Given the description of an element on the screen output the (x, y) to click on. 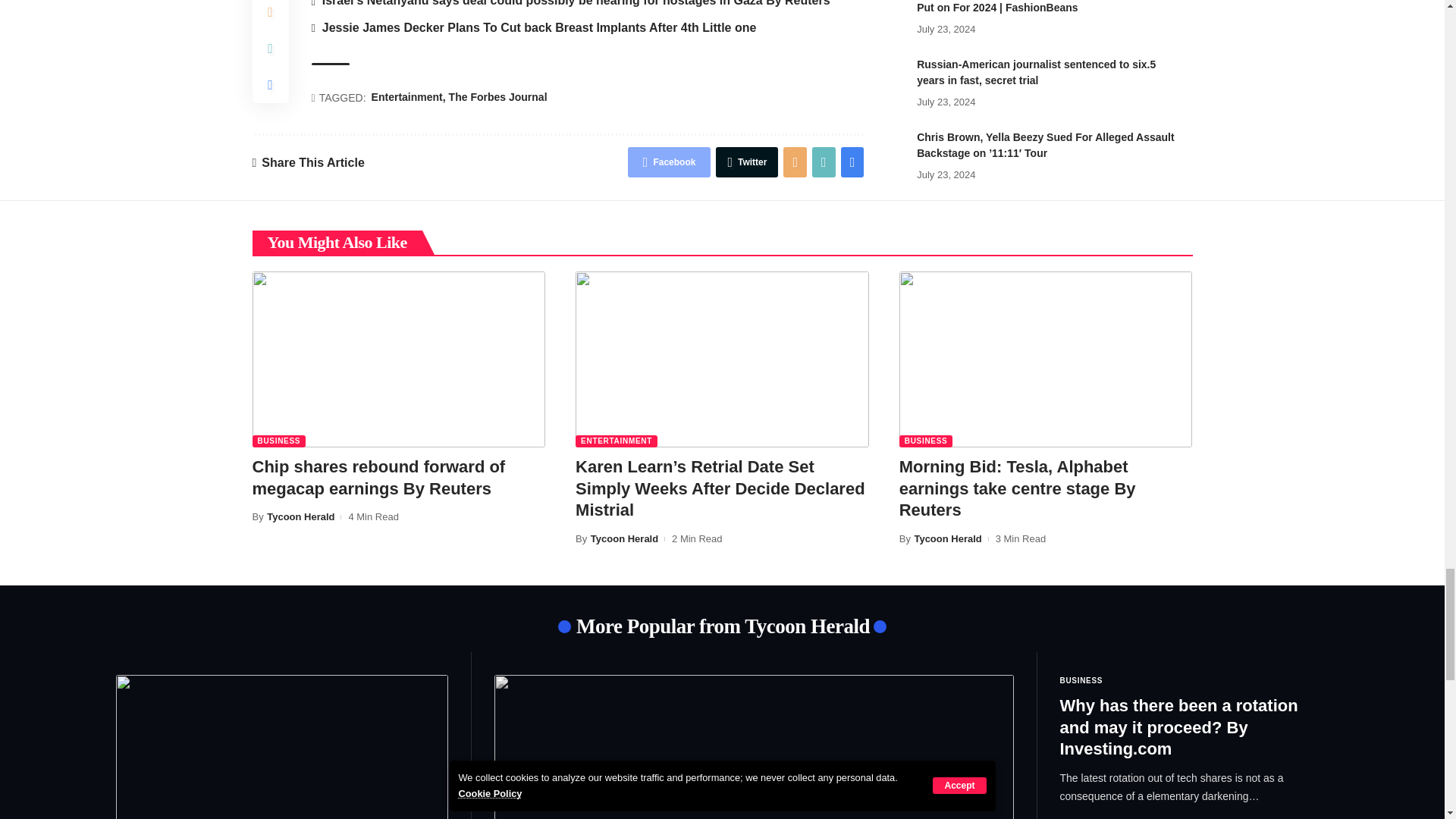
Chip shares rebound forward of megacap earnings By Reuters (397, 359)
